Given the description of an element on the screen output the (x, y) to click on. 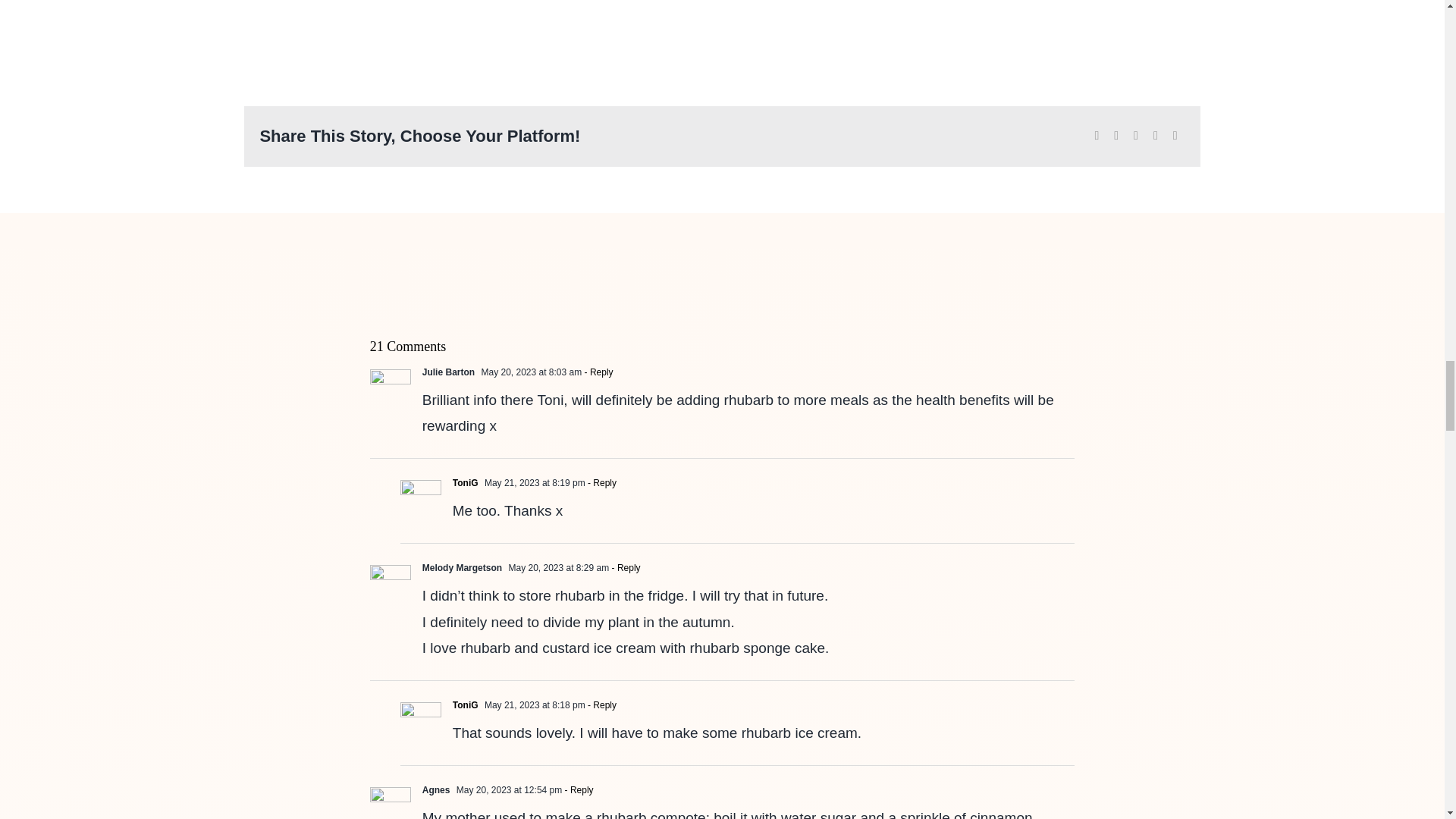
- Reply (596, 371)
Pinterest (1155, 136)
Email (1175, 136)
WhatsApp (1135, 136)
Facebook (1096, 136)
Twitter (1115, 136)
